Given the description of an element on the screen output the (x, y) to click on. 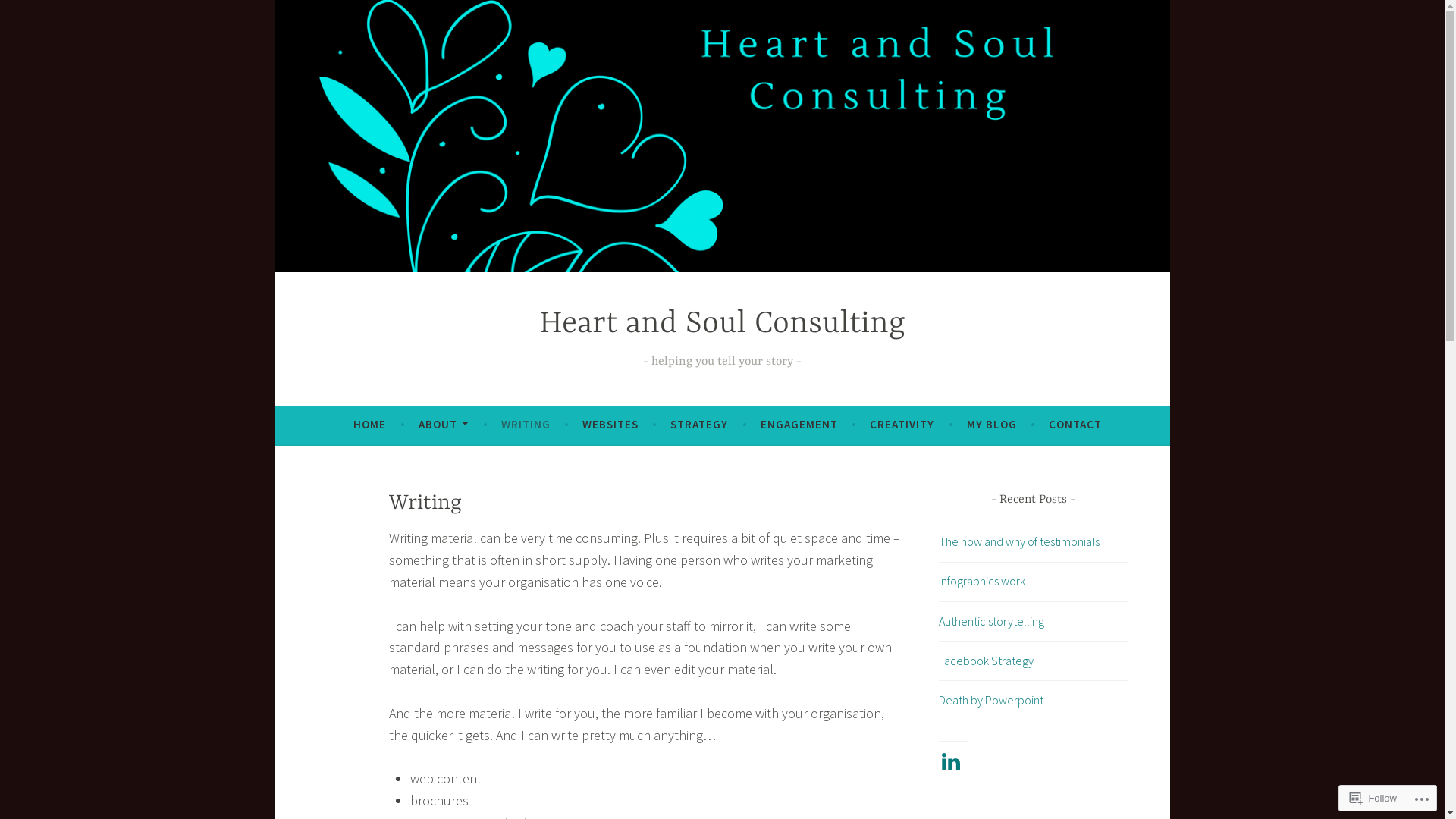
Search Element type: text (33, 15)
WEBSITES Element type: text (610, 424)
WRITING Element type: text (525, 424)
Heart and Soul Consulting Element type: text (722, 324)
The how and why of testimonials Element type: text (1018, 541)
ABOUT Element type: text (443, 424)
MY BLOG Element type: text (991, 424)
ENGAGEMENT Element type: text (798, 424)
CONTACT Element type: text (1074, 424)
HOME Element type: text (369, 424)
Follow Element type: text (1372, 797)
CREATIVITY Element type: text (901, 424)
Facebook Strategy Element type: text (985, 660)
Death by Powerpoint Element type: text (990, 699)
STRATEGY Element type: text (699, 424)
Infographics work Element type: text (981, 580)
Authentic storytelling Element type: text (991, 620)
